Given the description of an element on the screen output the (x, y) to click on. 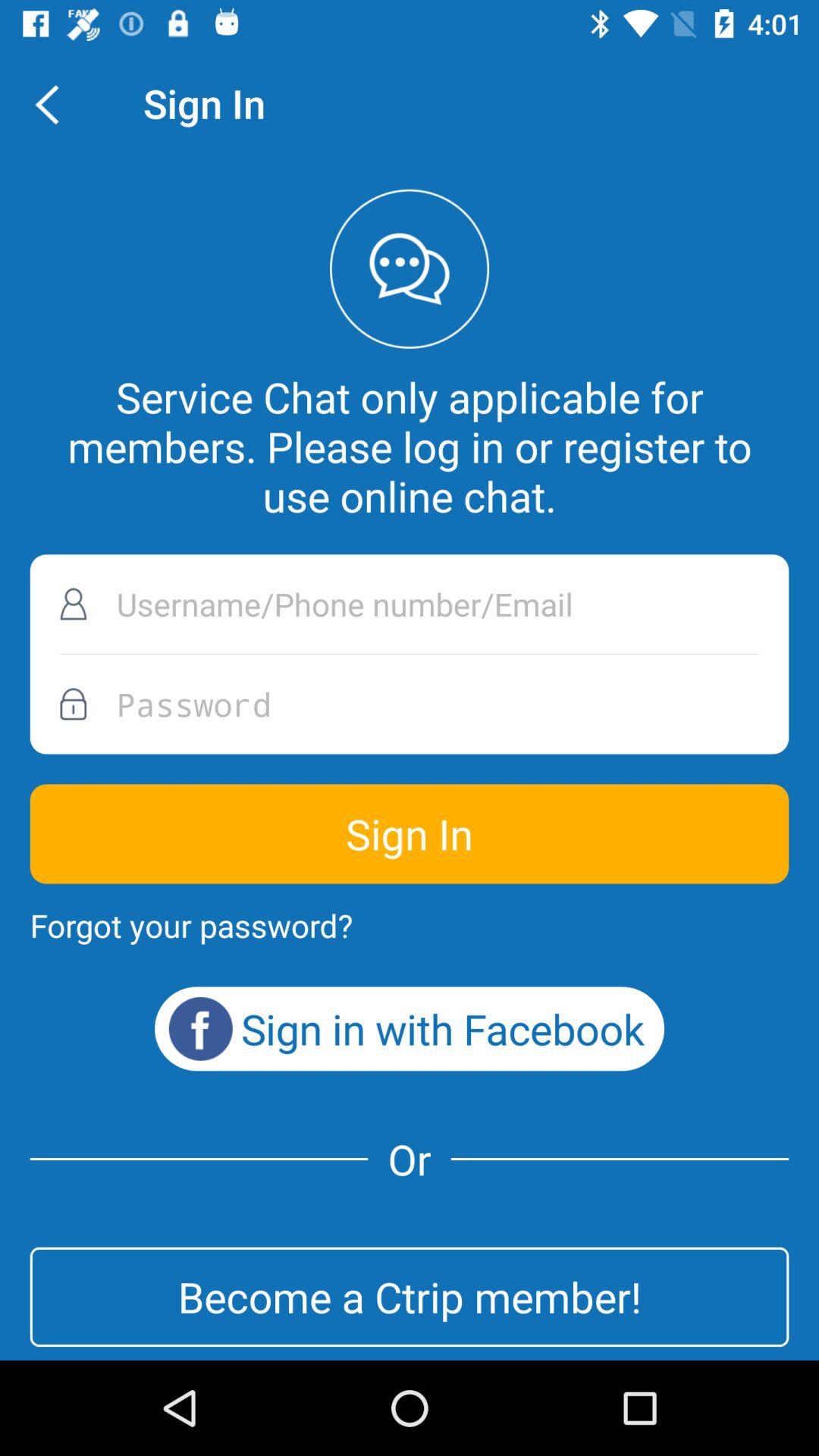
click become a ctrip (409, 1296)
